Given the description of an element on the screen output the (x, y) to click on. 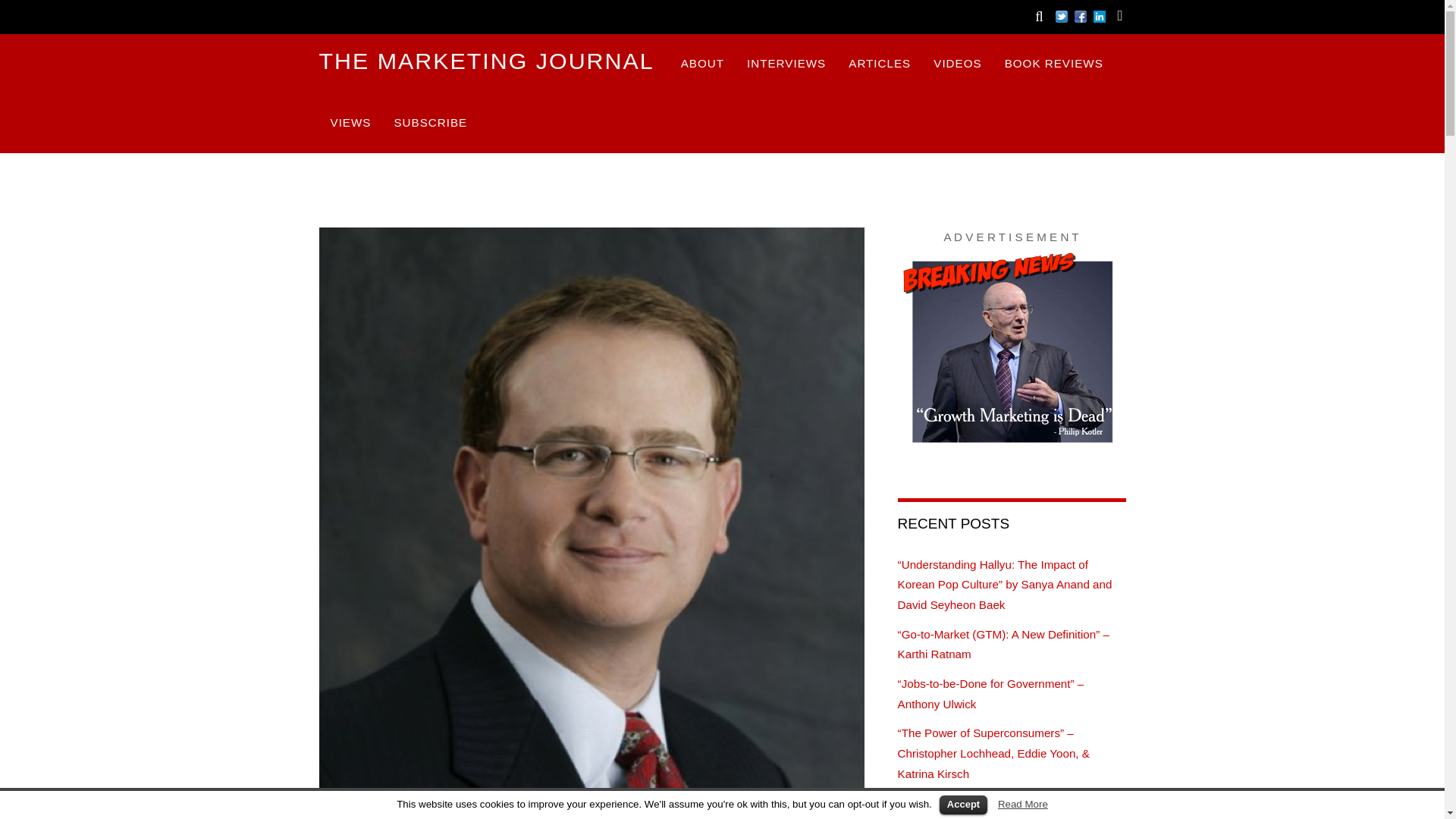
VIEWS (349, 123)
ABOUT (702, 64)
BOOK REVIEWS (1053, 64)
THE MARKETING JOURNAL (485, 60)
ARTICLES (879, 64)
VIDEOS (956, 64)
SUBSCRIBE (430, 123)
INTERVIEWS (786, 64)
The Marketing Journal (485, 60)
